Given the description of an element on the screen output the (x, y) to click on. 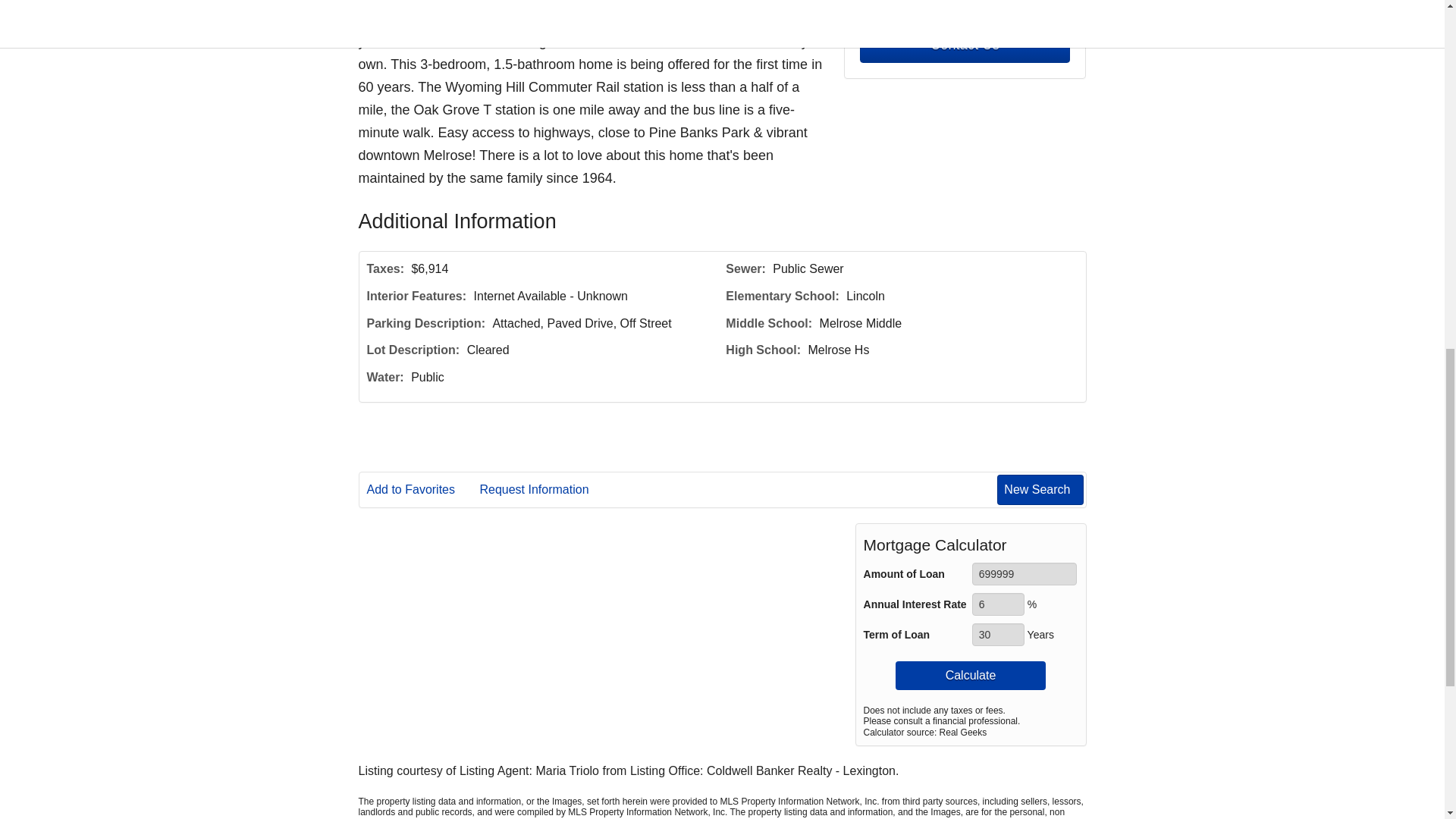
30 (998, 634)
699999 (1024, 573)
781.395.1616 (965, 6)
Contact Us (965, 45)
6 (998, 603)
